Given the description of an element on the screen output the (x, y) to click on. 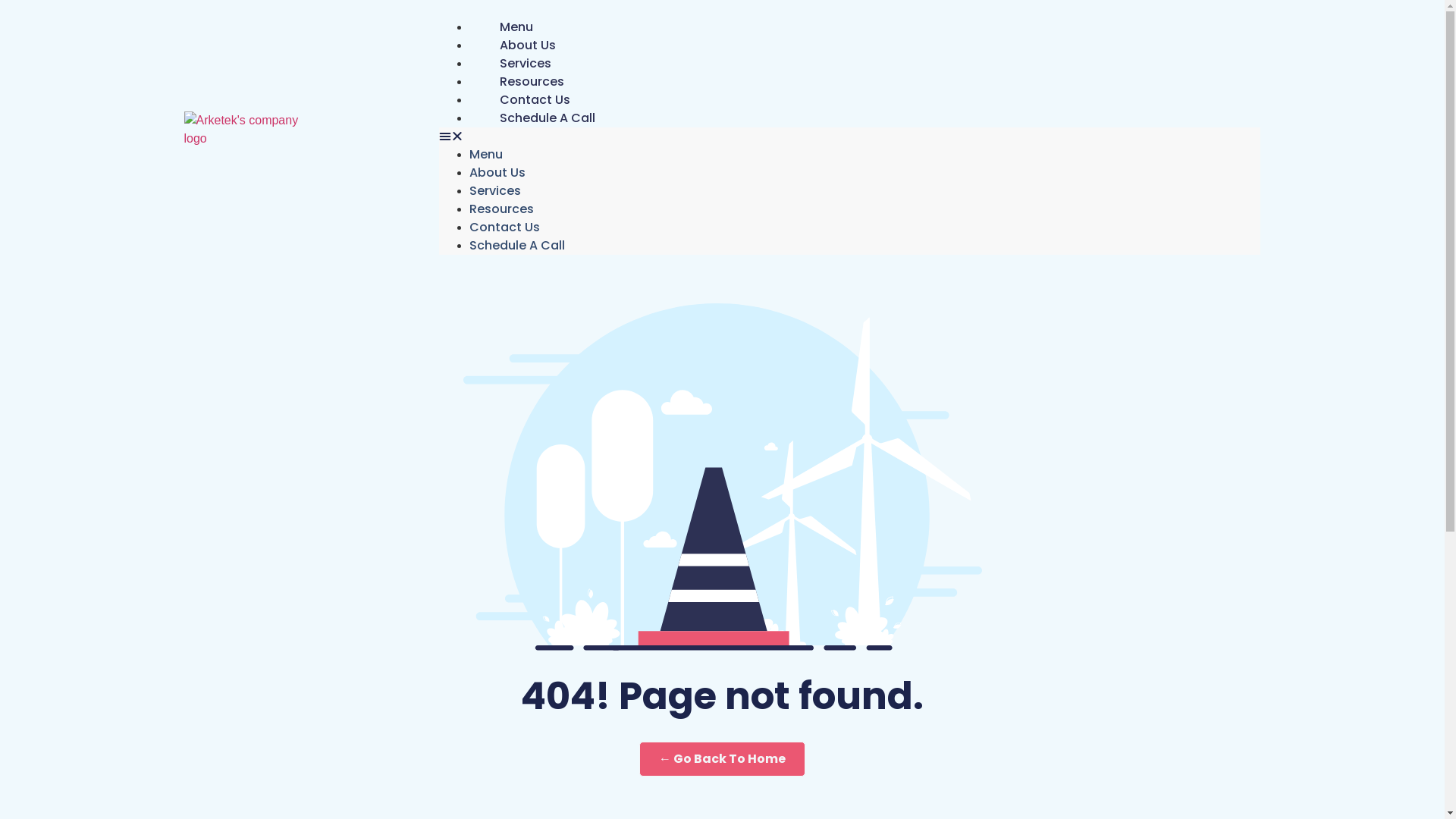
About Us Element type: text (527, 44)
Resources Element type: text (531, 81)
Schedule A Call Element type: text (516, 245)
Services Element type: text (525, 63)
Contact Us Element type: text (504, 226)
Menu Element type: text (485, 154)
Resources Element type: text (501, 208)
About Us Element type: text (497, 172)
Contact Us Element type: text (534, 99)
Services Element type: text (494, 190)
Schedule A Call Element type: text (547, 117)
Menu Element type: text (516, 26)
